Given the description of an element on the screen output the (x, y) to click on. 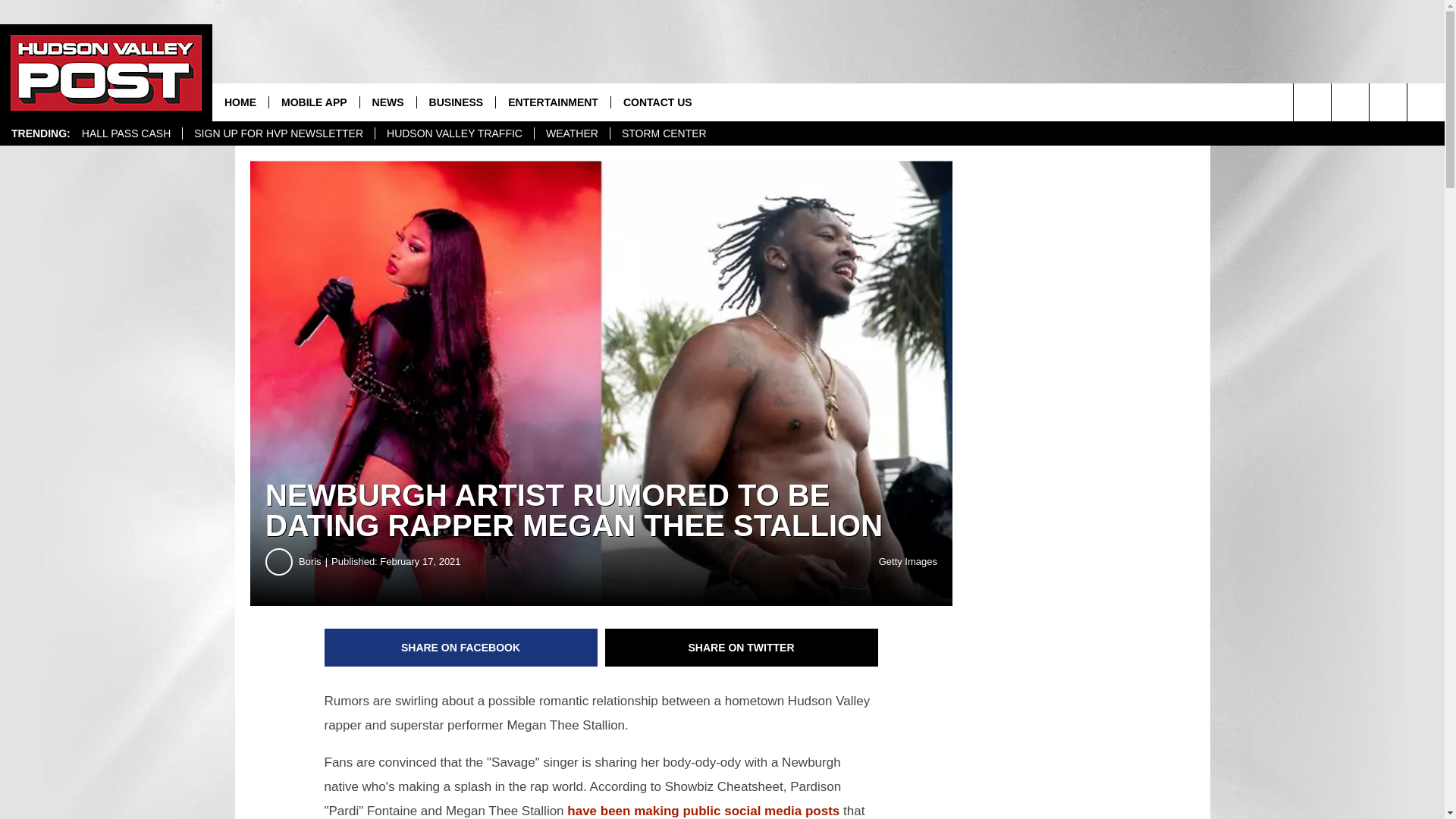
Share on Facebook (460, 647)
SIGN UP FOR HVP NEWSLETTER (278, 133)
BUSINESS (456, 102)
Share on Twitter (741, 647)
STORM CENTER (663, 133)
HALL PASS CASH (126, 133)
ENTERTAINMENT (552, 102)
CONTACT US (657, 102)
HUDSON VALLEY TRAFFIC (454, 133)
WEATHER (572, 133)
MOBILE APP (313, 102)
HOME (239, 102)
NEWS (387, 102)
